Given the description of an element on the screen output the (x, y) to click on. 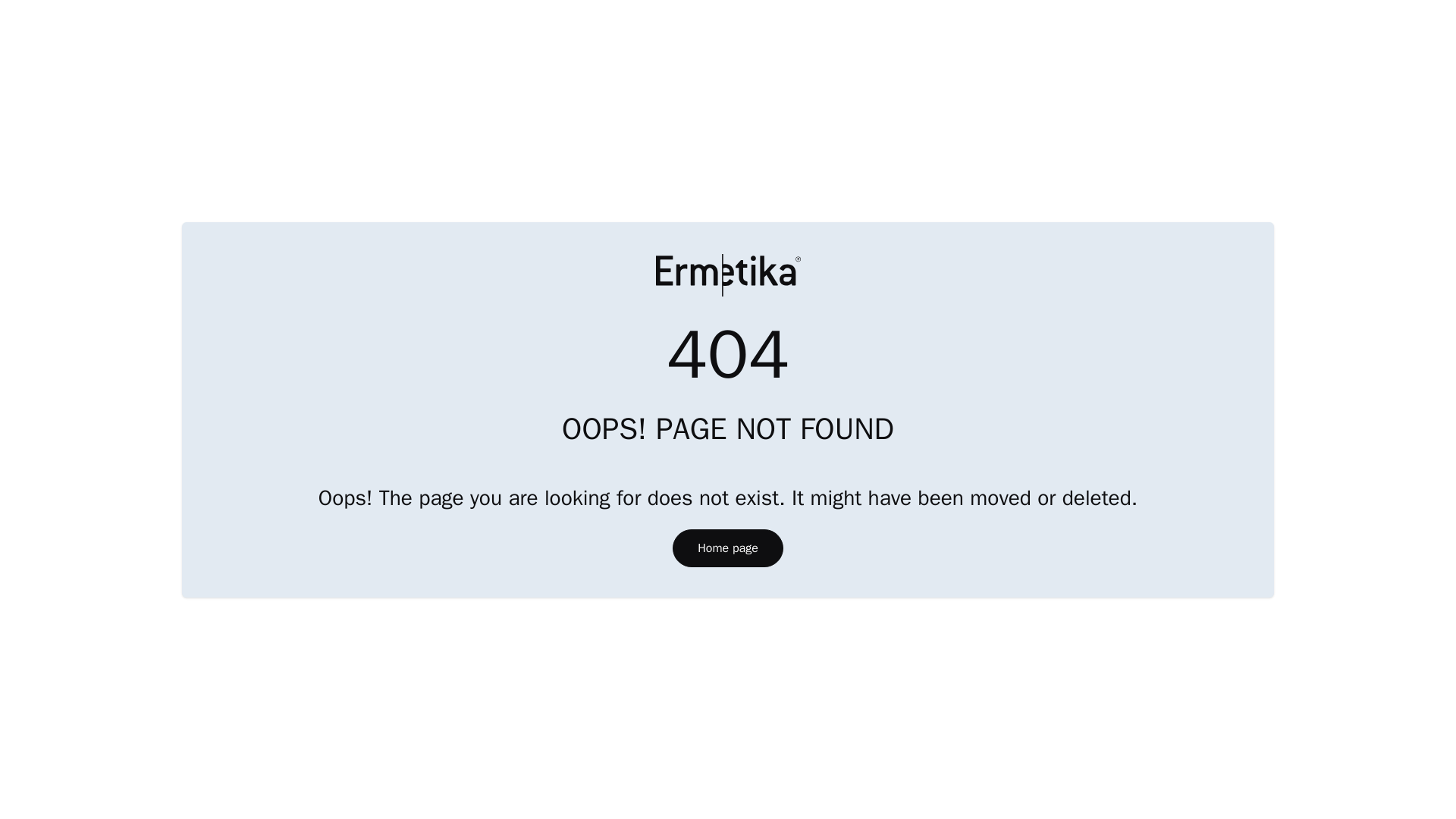
Home page (727, 274)
Ermetika (727, 274)
Home page (727, 547)
Home page (727, 547)
